Given the description of an element on the screen output the (x, y) to click on. 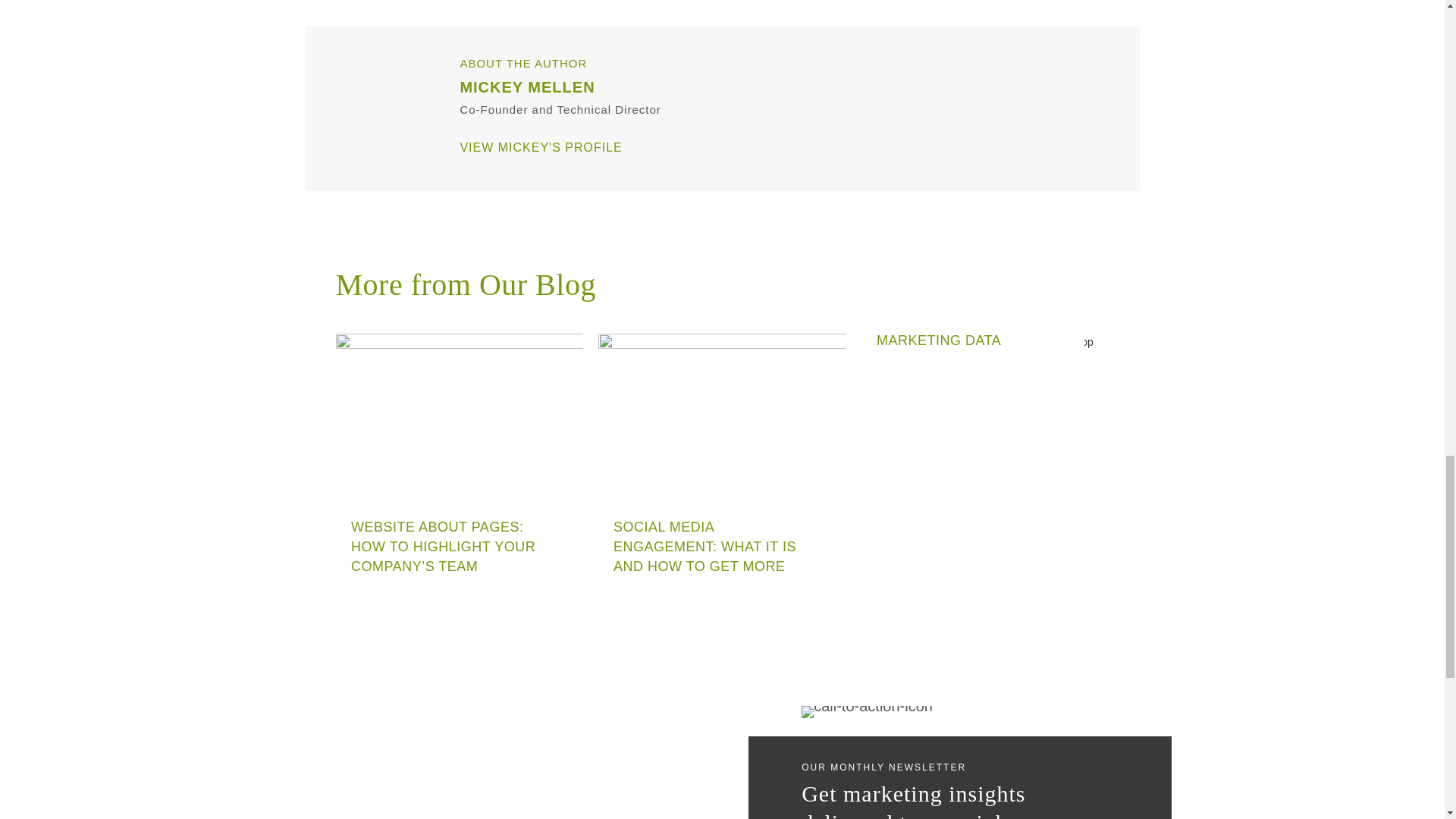
call-to-action-icon (867, 711)
VIEW MICKEY'S PROFILE (540, 146)
